Given the description of an element on the screen output the (x, y) to click on. 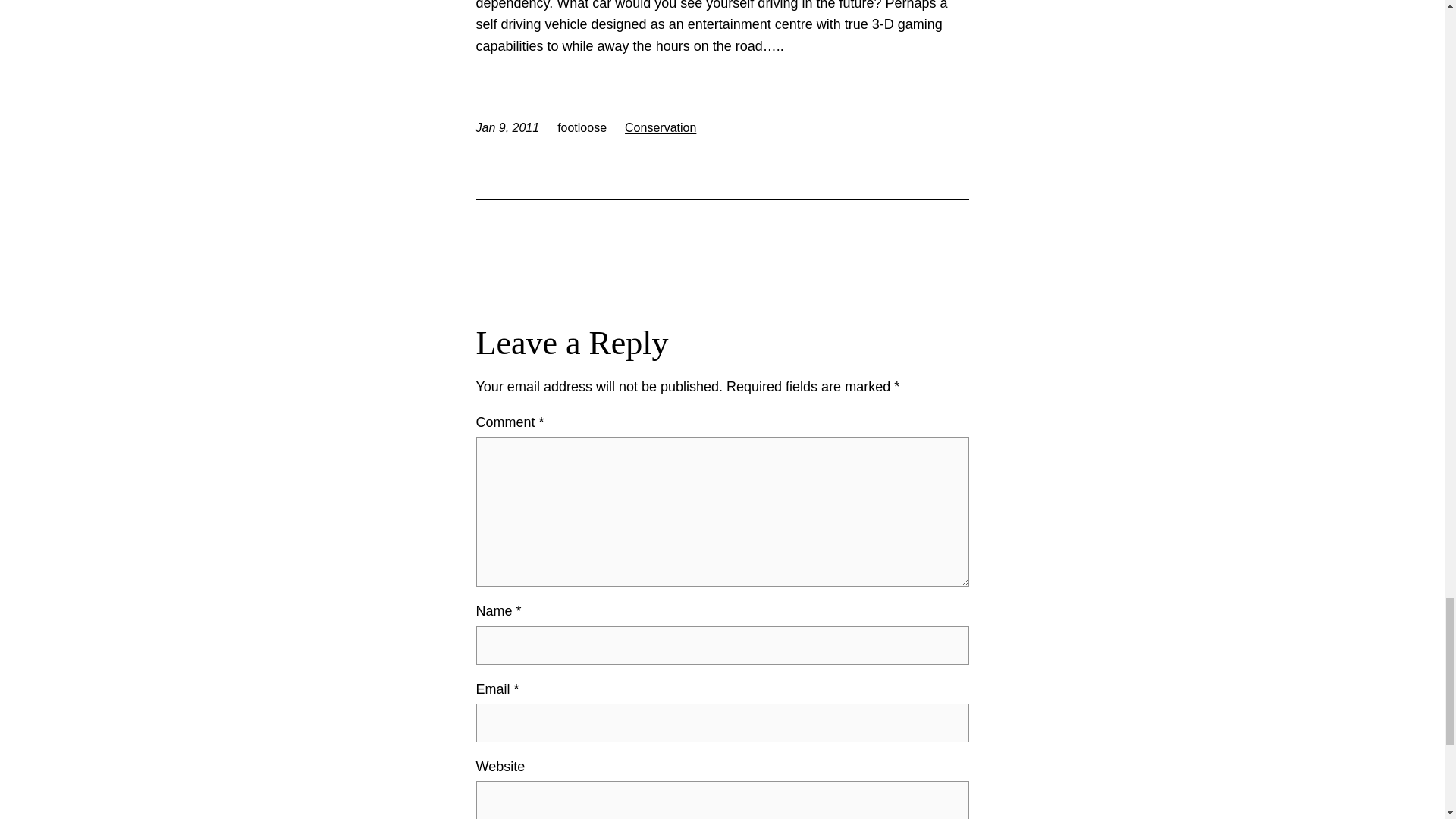
Conservation (659, 127)
